Given the description of an element on the screen output the (x, y) to click on. 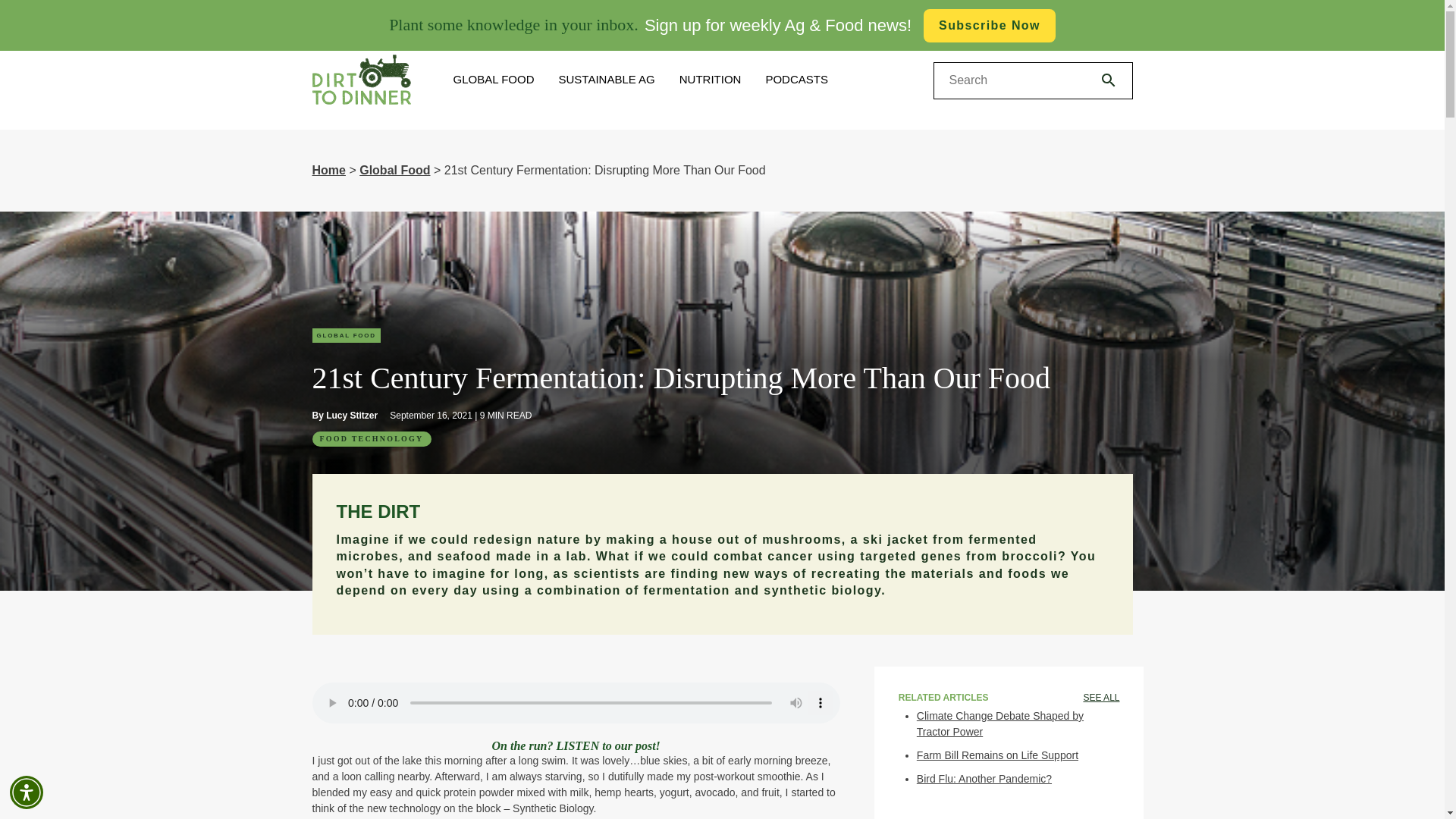
GLOBAL FOOD (350, 338)
PODCASTS (796, 79)
GLOBAL FOOD (493, 79)
Global Food (394, 169)
Accessibility Menu (26, 792)
Subscribe Now (989, 25)
FOOD TECHNOLOGY (375, 441)
By Lucy Stitzer (351, 415)
Home (329, 169)
NUTRITION (710, 79)
SUSTAINABLE AG (605, 79)
